Given the description of an element on the screen output the (x, y) to click on. 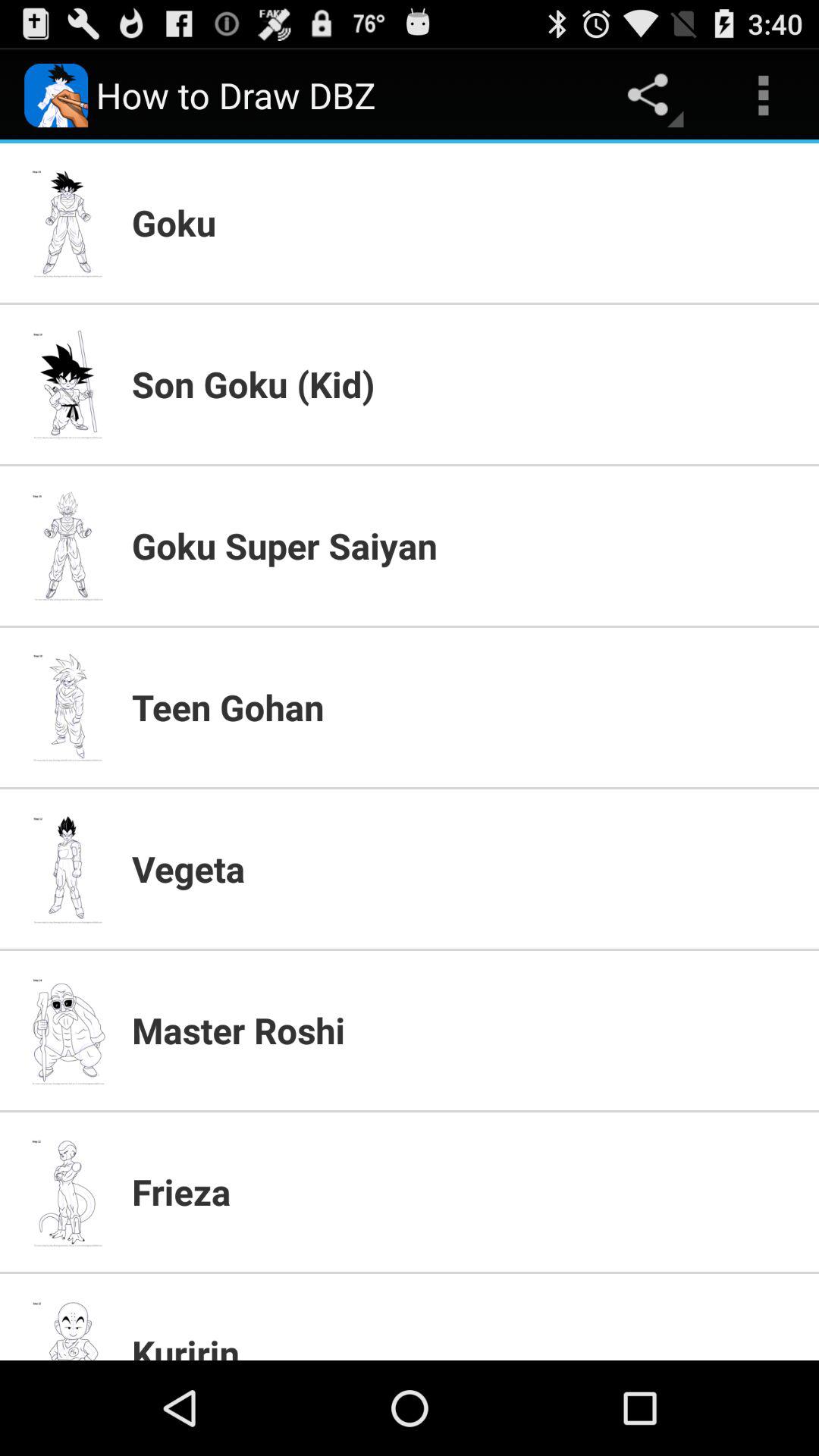
open the app above the frieza item (465, 1030)
